Given the description of an element on the screen output the (x, y) to click on. 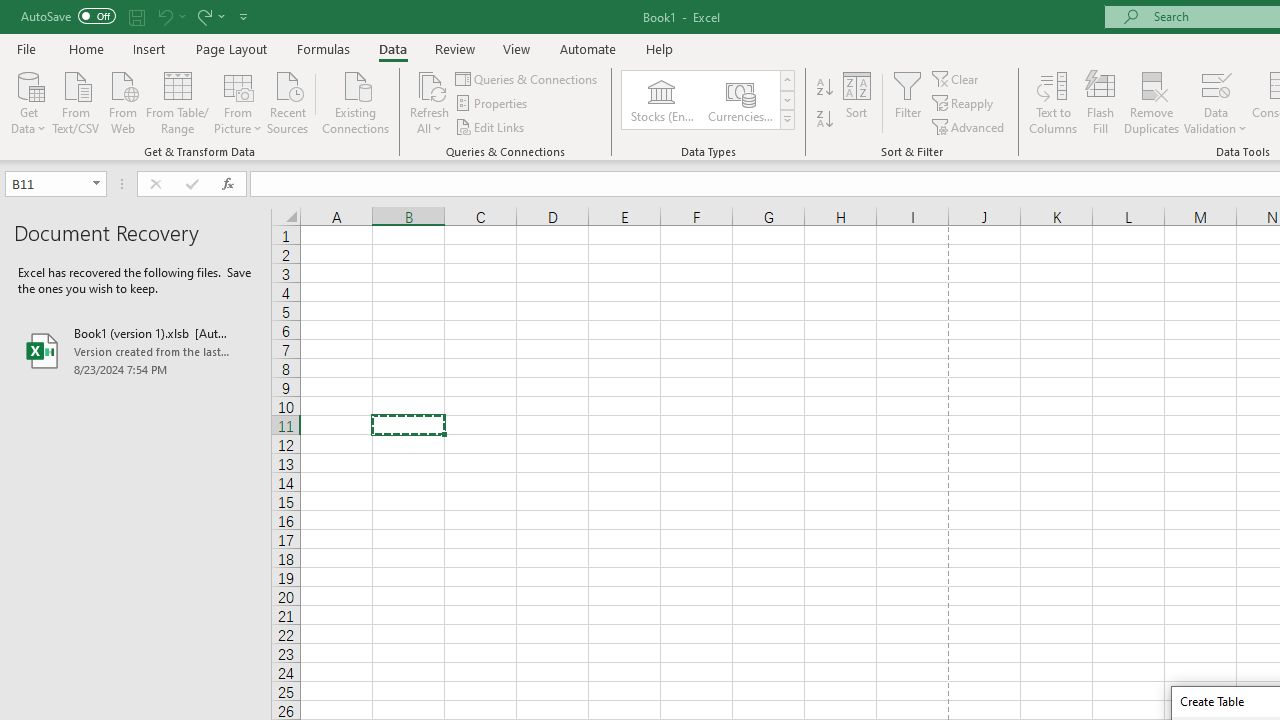
Reapply (964, 103)
Row Down (786, 100)
Get Data (28, 101)
From Table/Range (177, 101)
Data Types (786, 120)
AutomationID: ConvertToLinkedEntity (708, 99)
From Picture (238, 101)
Book1 (version 1).xlsb  [AutoRecovered] (136, 350)
Remove Duplicates (1151, 102)
Recent Sources (287, 101)
